Given the description of an element on the screen output the (x, y) to click on. 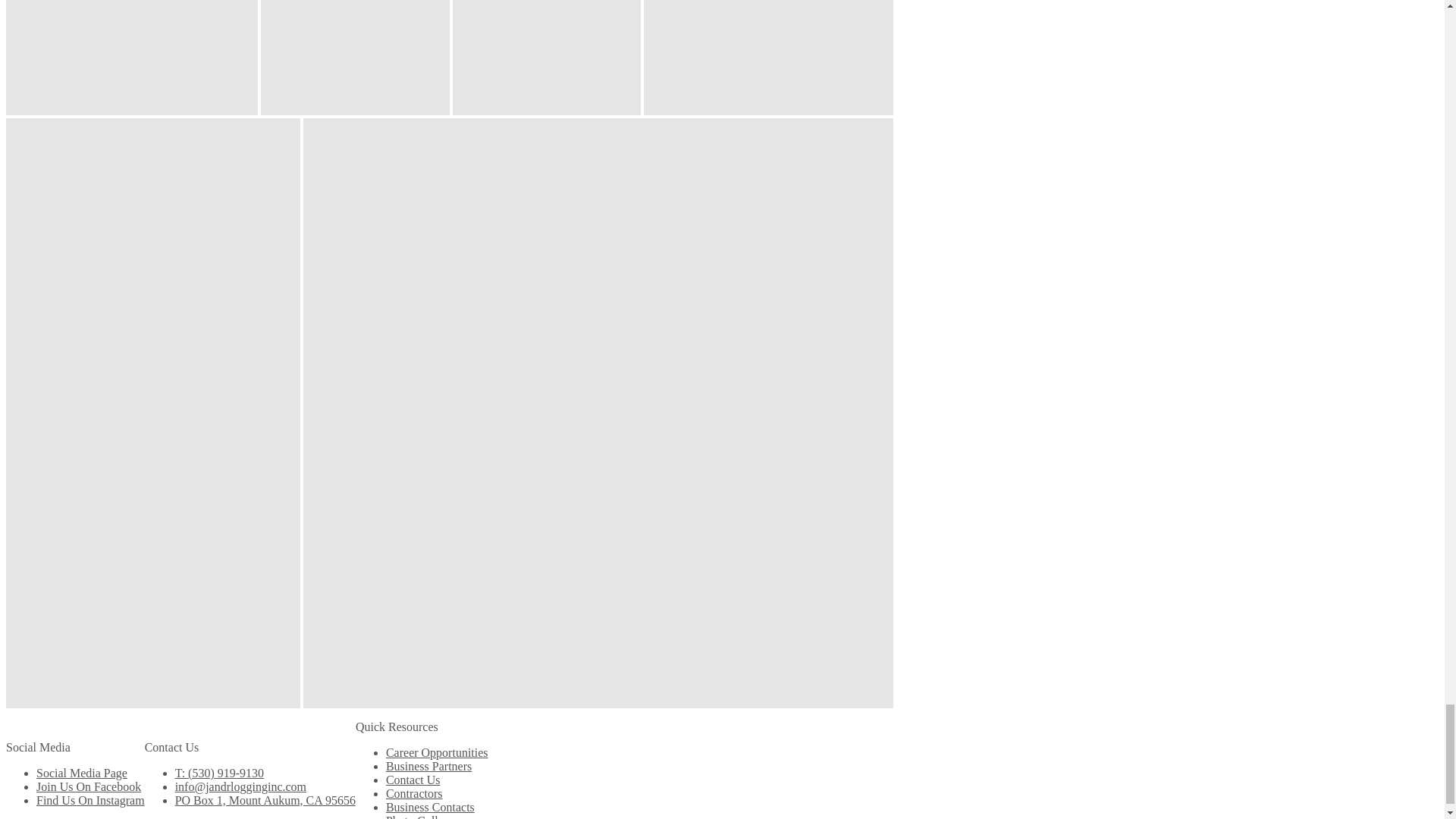
Business Partners (428, 766)
Contractors (413, 793)
Join Us On Facebook (88, 786)
Contact Us (413, 779)
Find Us On Instagram (90, 799)
Photo Gallery (418, 816)
Business Contacts (429, 807)
PO Box 1, Mount Aukum, CA 95656 (264, 799)
Career Opportunities (436, 752)
Social Media Page (82, 772)
